Given the description of an element on the screen output the (x, y) to click on. 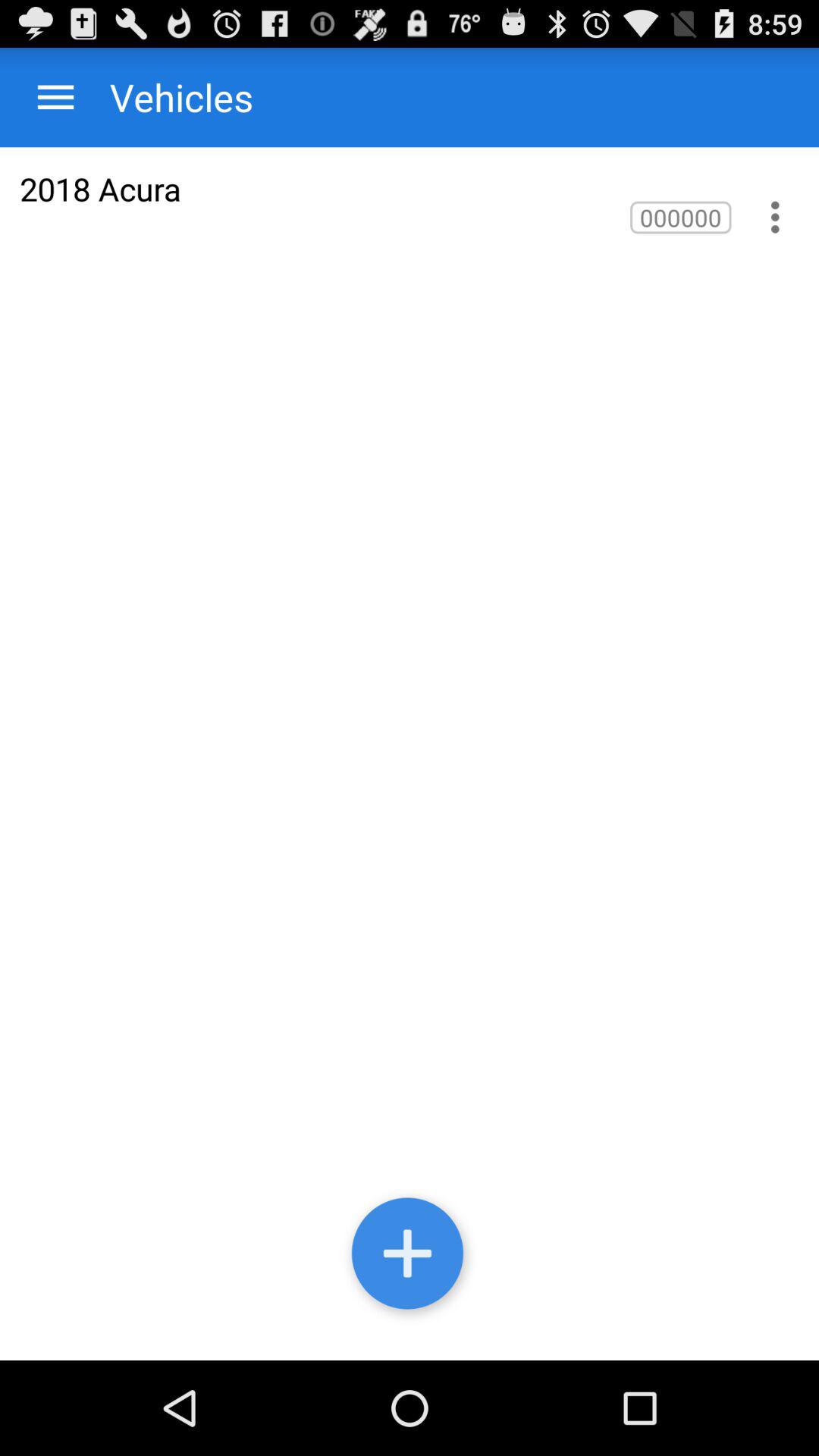
tap the 2018 acura item (99, 188)
